Given the description of an element on the screen output the (x, y) to click on. 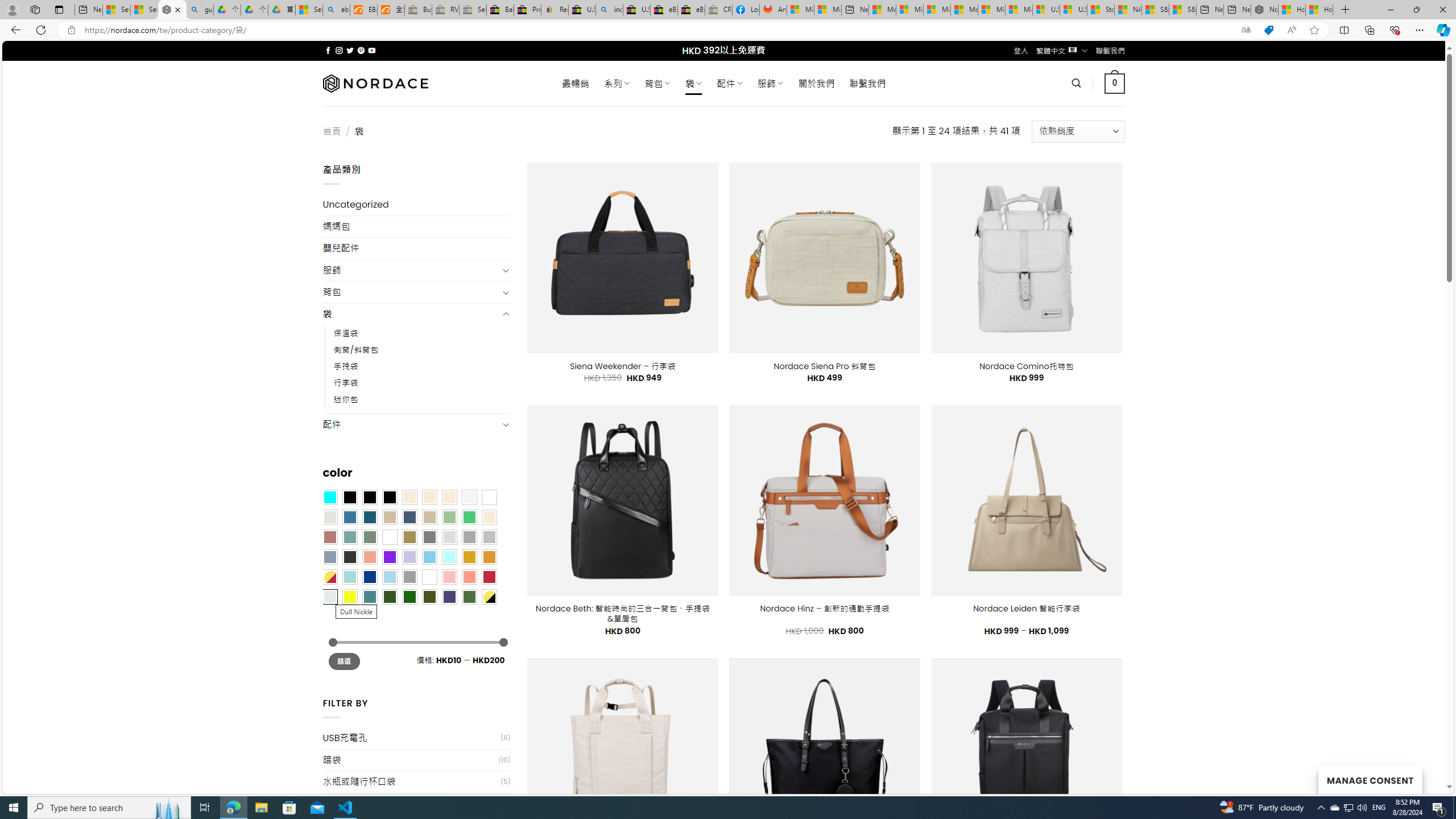
Uncategorized (416, 204)
MANAGE CONSENT (1369, 779)
